Given the description of an element on the screen output the (x, y) to click on. 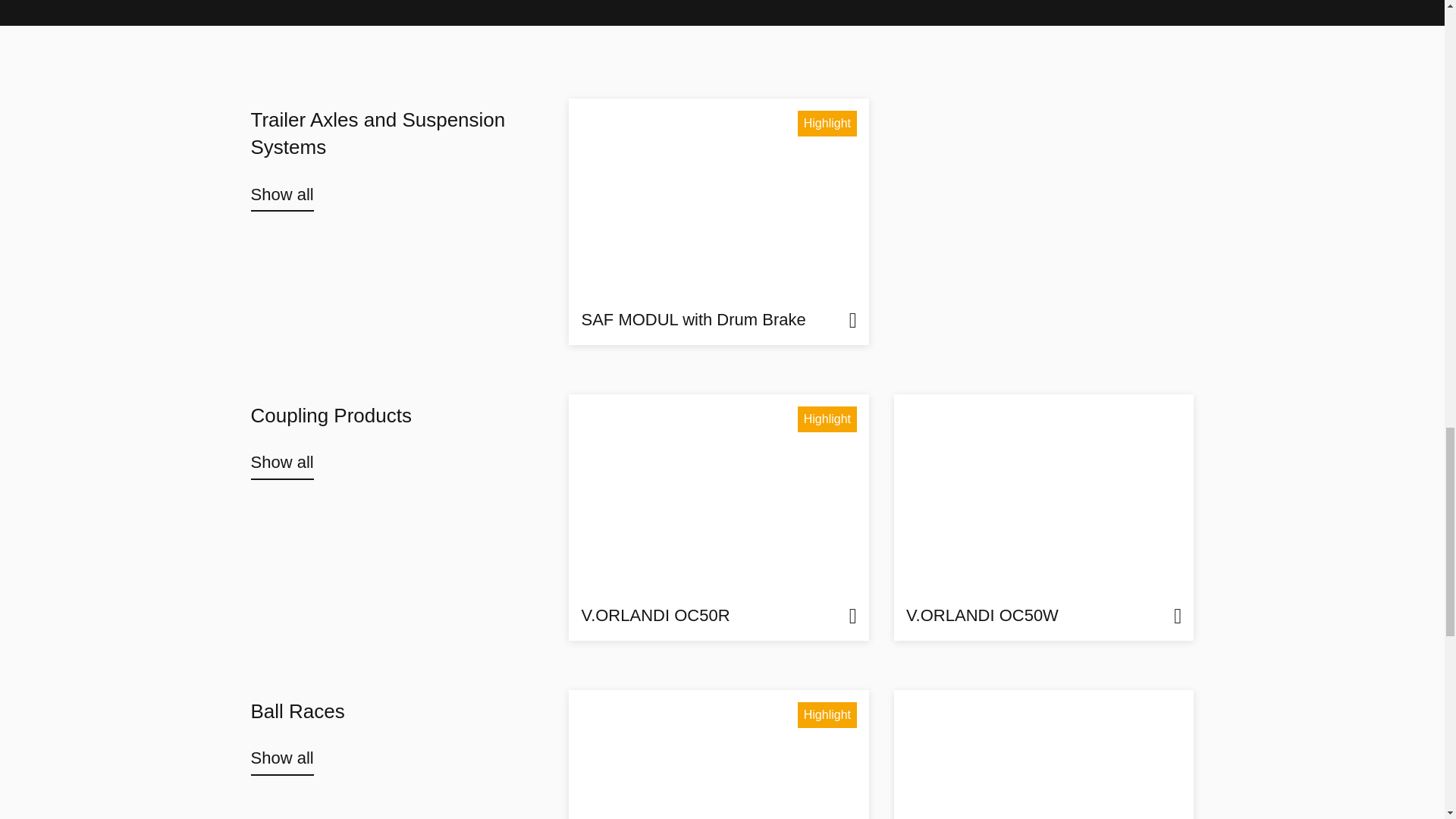
SAF Double Row Ball Races (1043, 754)
 V.ORLANDI OC50R (719, 516)
 V.ORLANDI OC50W (1043, 516)
SAF Single Row Ball Races (719, 754)
SAF MODUL with Drum Brake (719, 221)
